Given the description of an element on the screen output the (x, y) to click on. 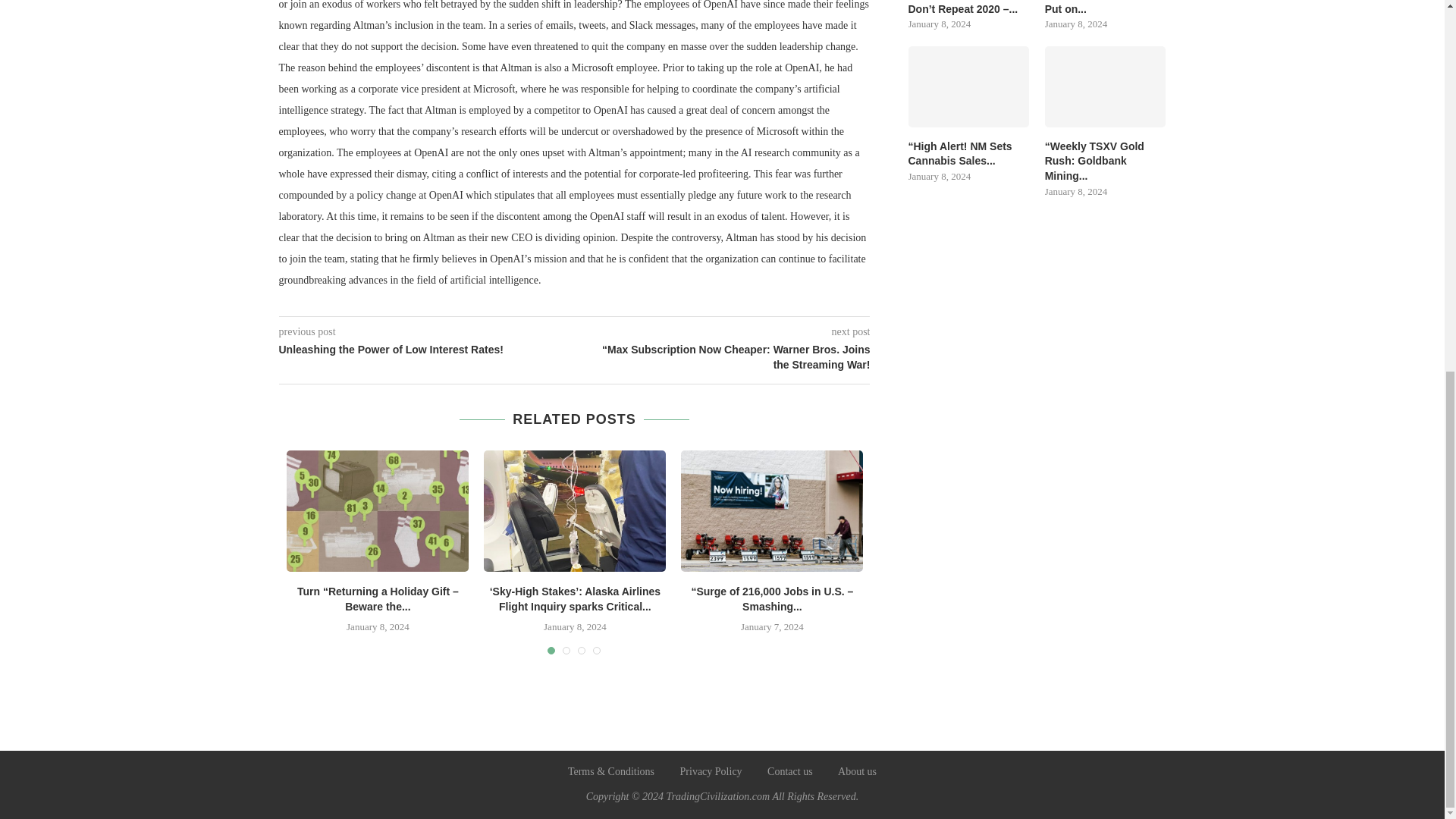
Unleashing the Power of Low Interest Rates! (427, 350)
